Given the description of an element on the screen output the (x, y) to click on. 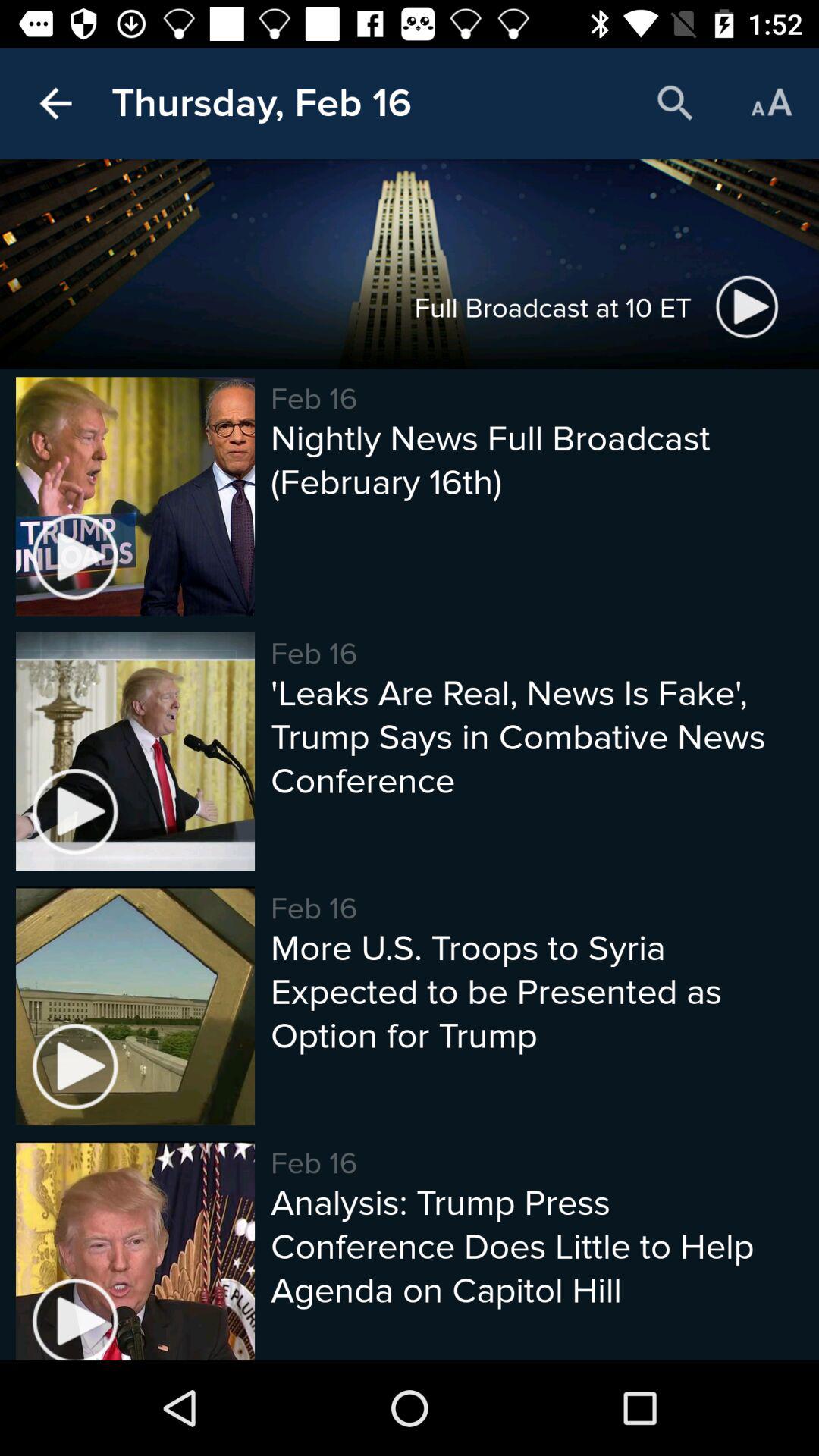
press icon next to the thursday, feb 16 (675, 103)
